Given the description of an element on the screen output the (x, y) to click on. 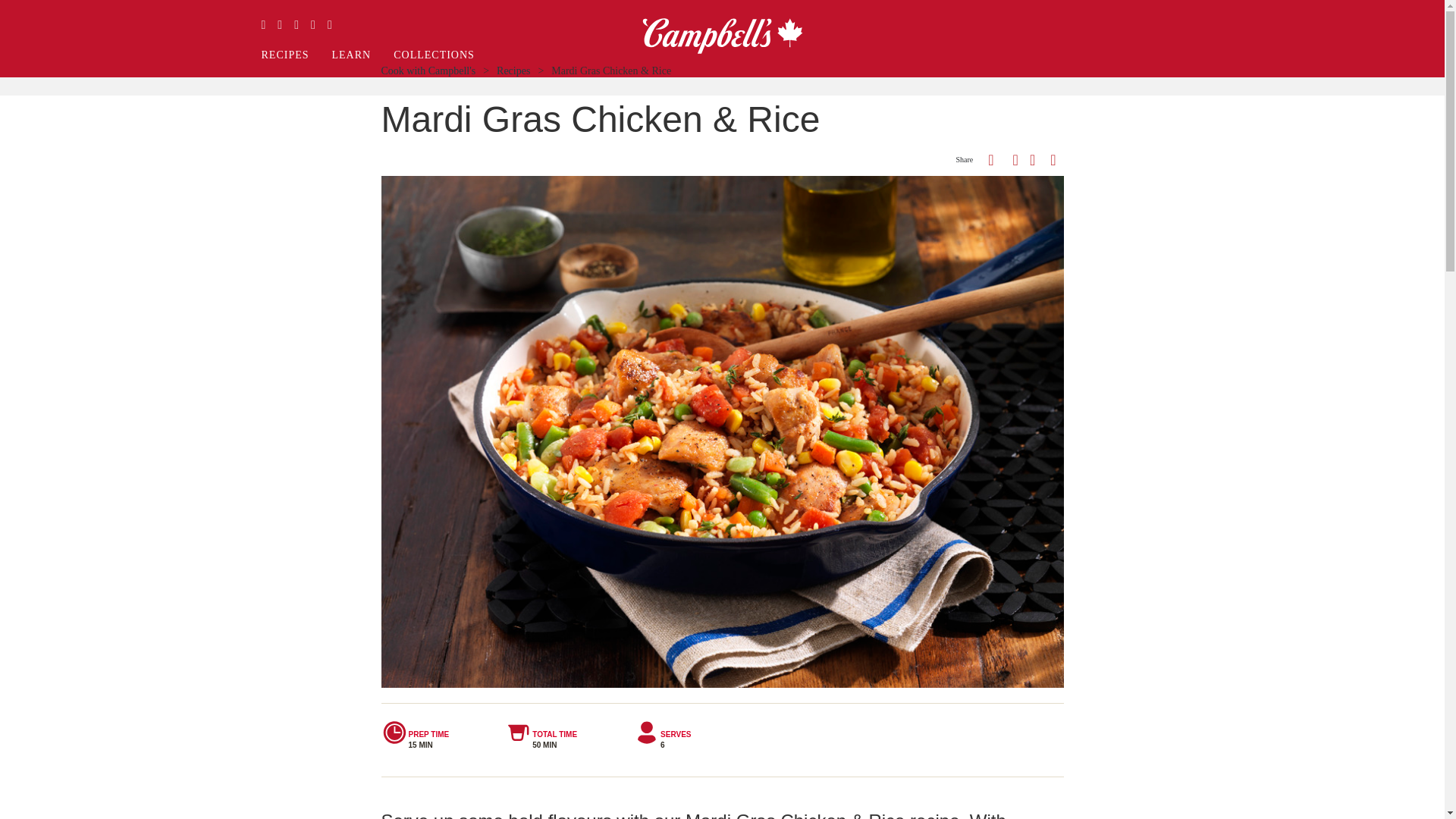
Recipes (512, 70)
RECIPES (285, 55)
COLLECTIONS (433, 55)
Cook with Campbell's (428, 70)
LEARN (351, 55)
